Given the description of an element on the screen output the (x, y) to click on. 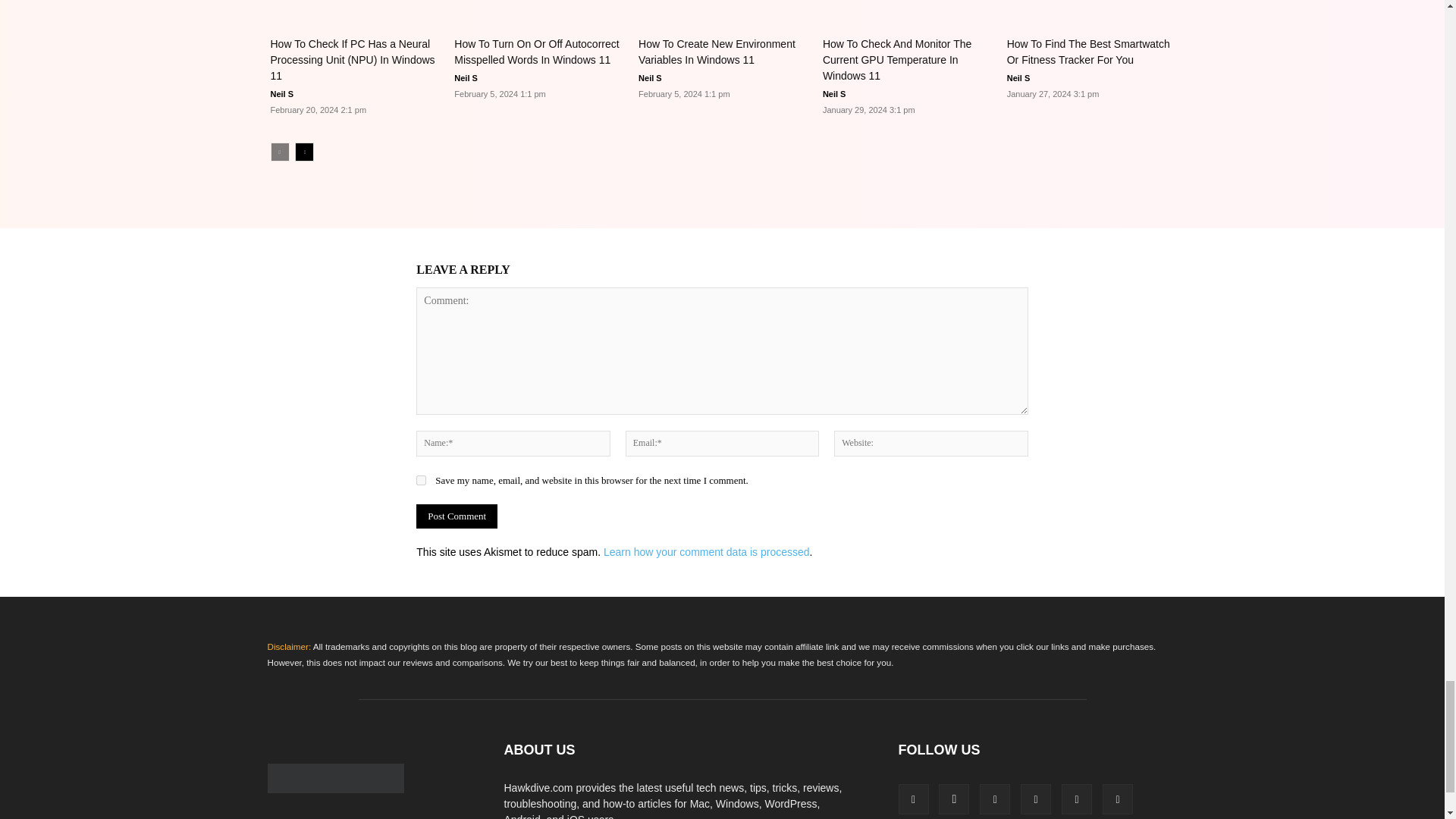
Post Comment (456, 516)
yes (421, 480)
